Given the description of an element on the screen output the (x, y) to click on. 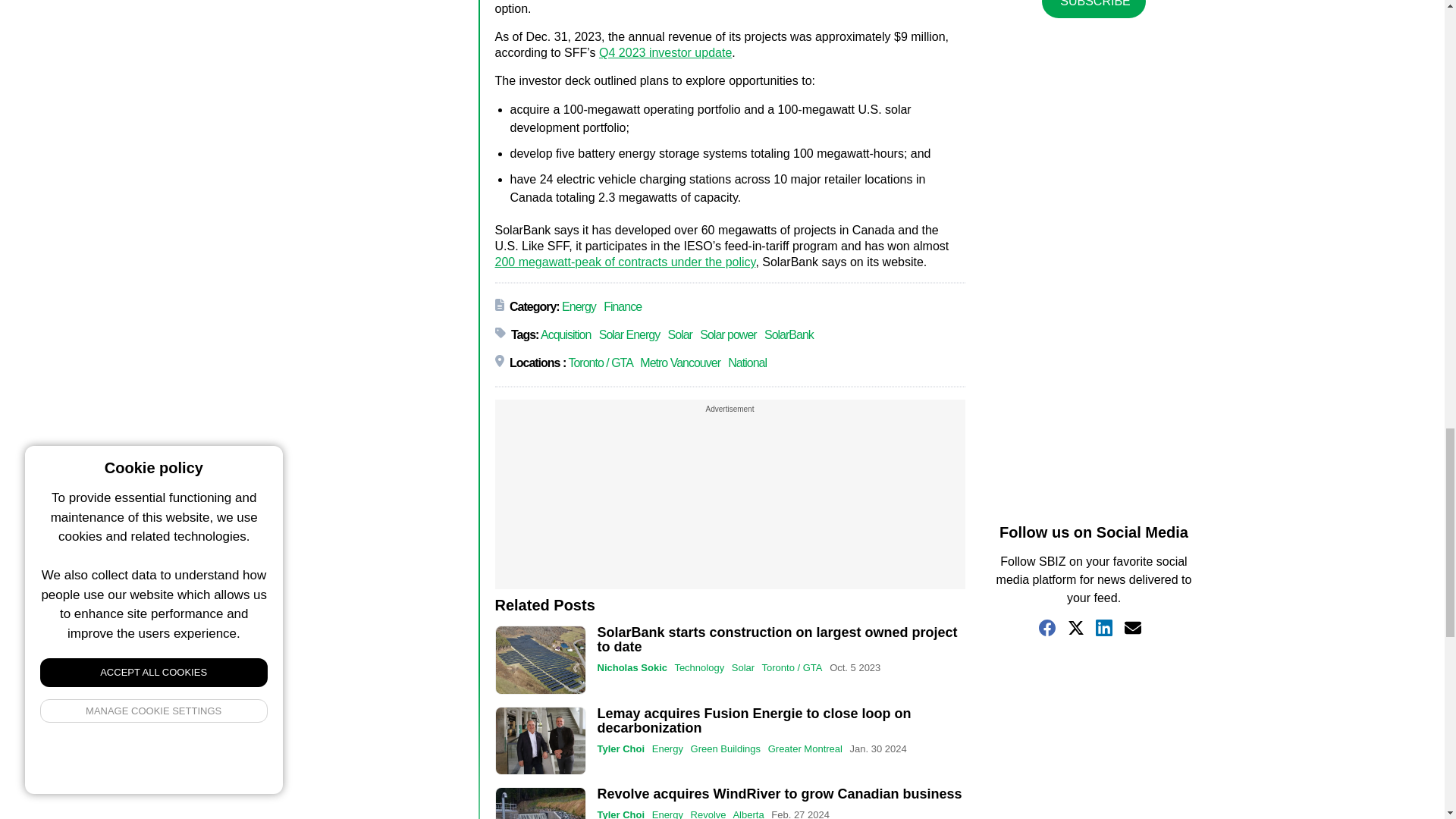
Revolve acquires WindRiver to grow Canadian business (779, 793)
Revolve acquires WindRiver to grow Canadian business (540, 803)
